Given the description of an element on the screen output the (x, y) to click on. 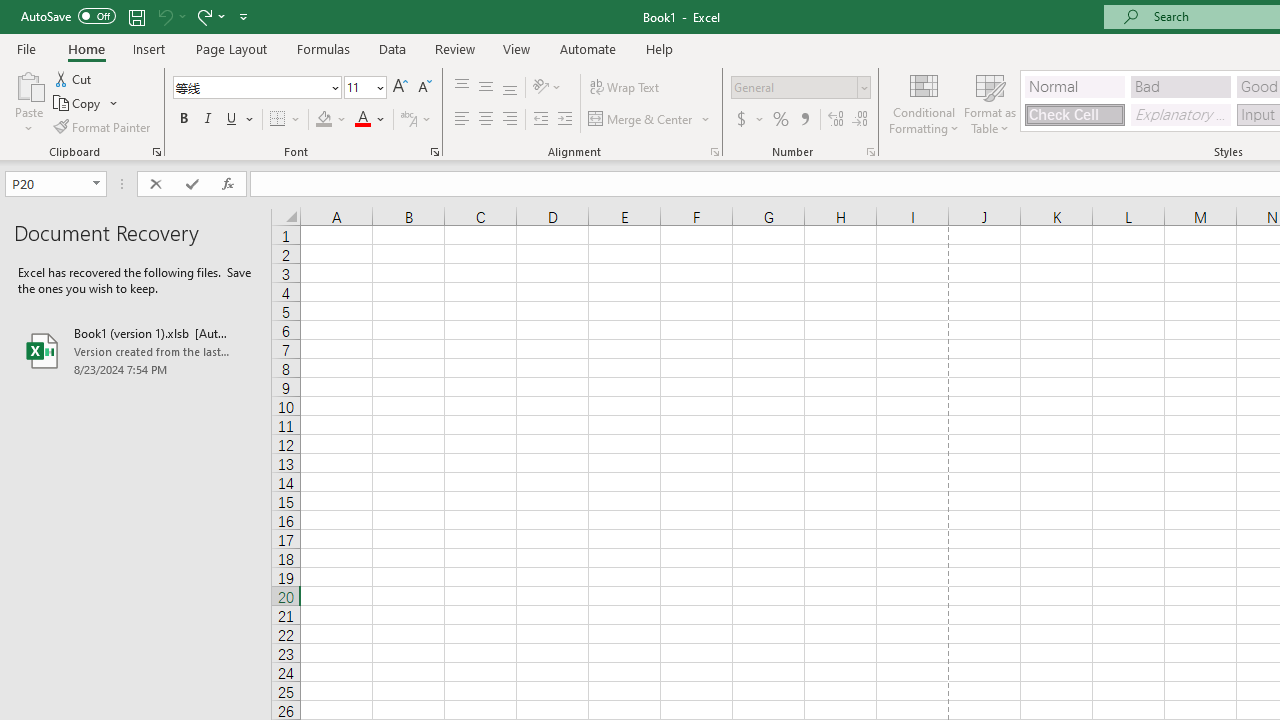
Help (660, 48)
Bad (1180, 86)
Customize Quick Access Toolbar (244, 15)
Align Right (509, 119)
Decrease Indent (540, 119)
Align Left (461, 119)
Fill Color RGB(255, 255, 0) (324, 119)
Increase Indent (565, 119)
Number Format (794, 87)
Middle Align (485, 87)
Format Cell Number (870, 151)
